Given the description of an element on the screen output the (x, y) to click on. 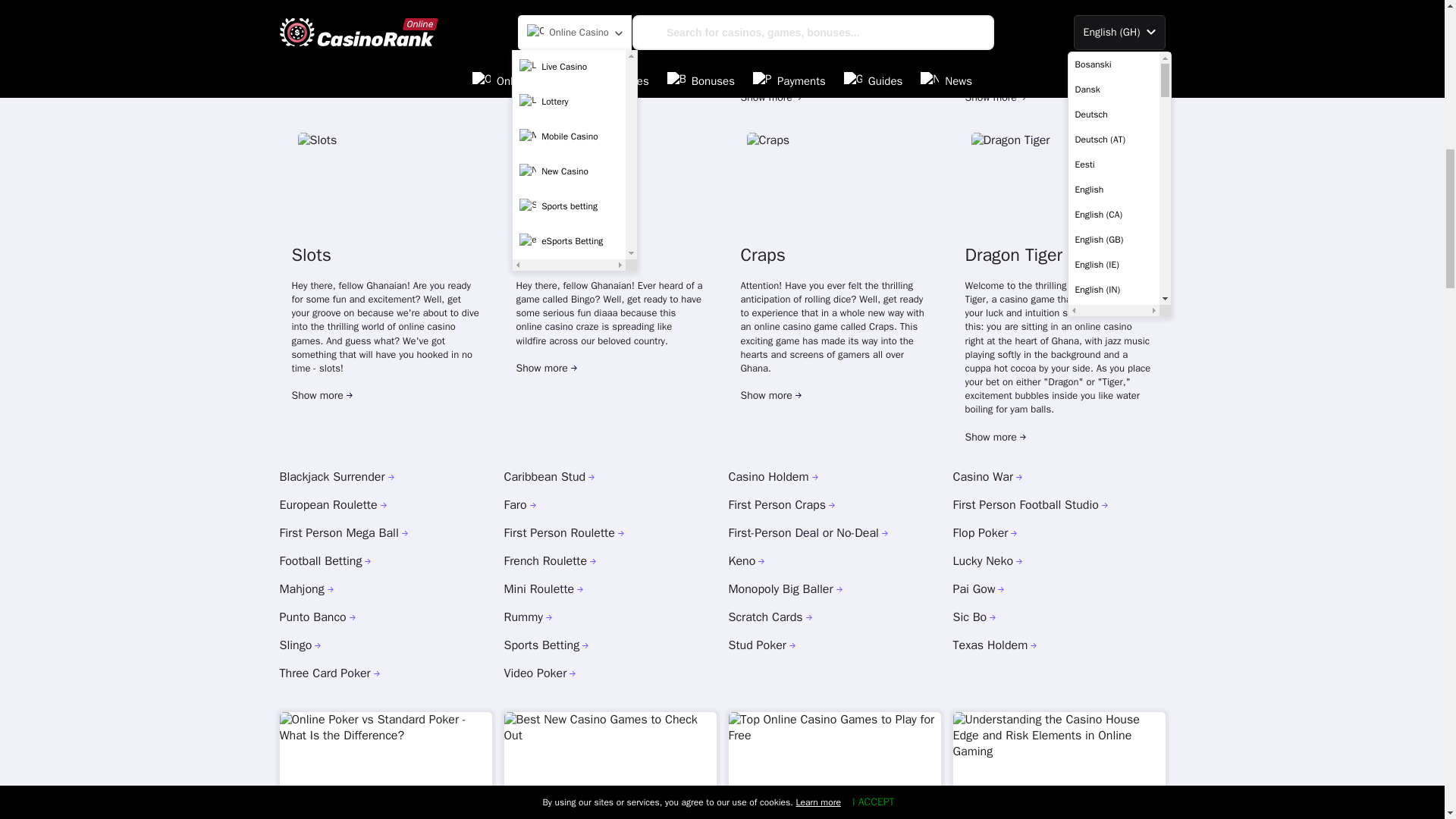
Hrvatski (1113, 4)
Indonesia (1113, 21)
